Given the description of an element on the screen output the (x, y) to click on. 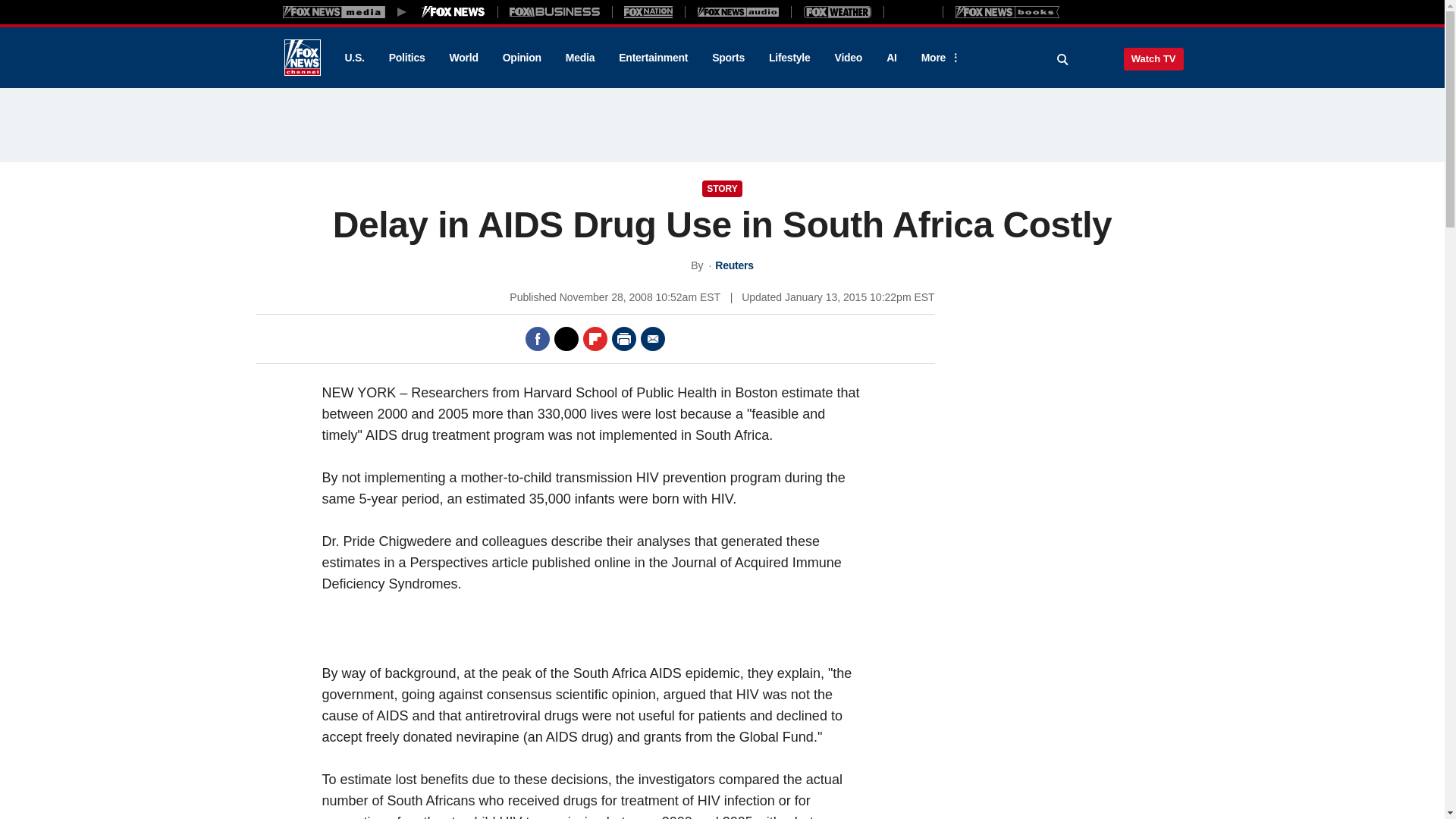
Opinion (521, 57)
AI (891, 57)
Fox Business (554, 11)
Entertainment (653, 57)
More (938, 57)
Sports (728, 57)
Fox News Audio (737, 11)
U.S. (353, 57)
Fox News (301, 57)
Politics (407, 57)
